Given the description of an element on the screen output the (x, y) to click on. 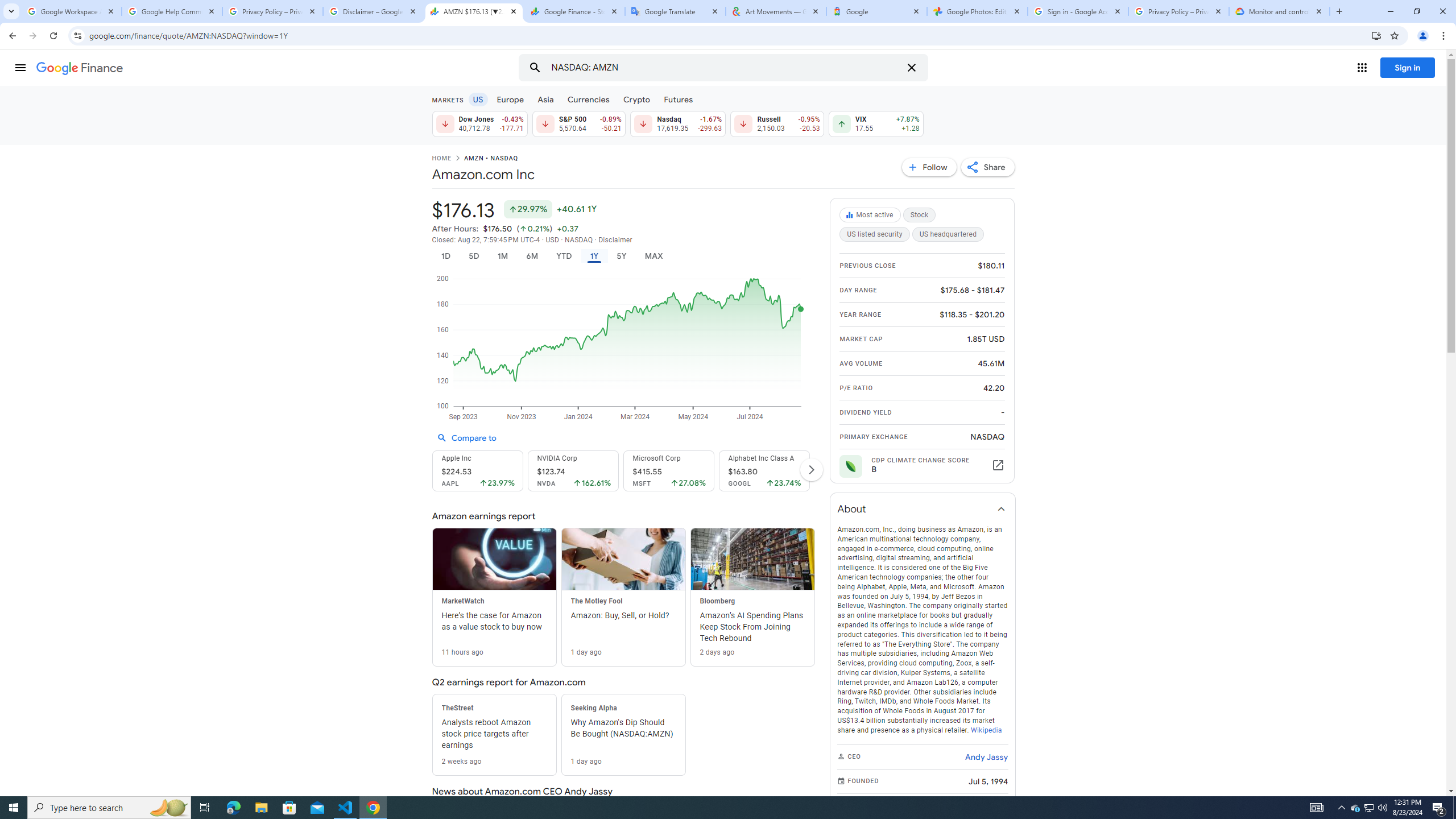
Finance (79, 68)
Follow (929, 167)
1D (445, 255)
The Motley Fool Amazon: Buy, Sell, or Hold? 1 day ago (623, 596)
MAX (653, 255)
